Given the description of an element on the screen output the (x, y) to click on. 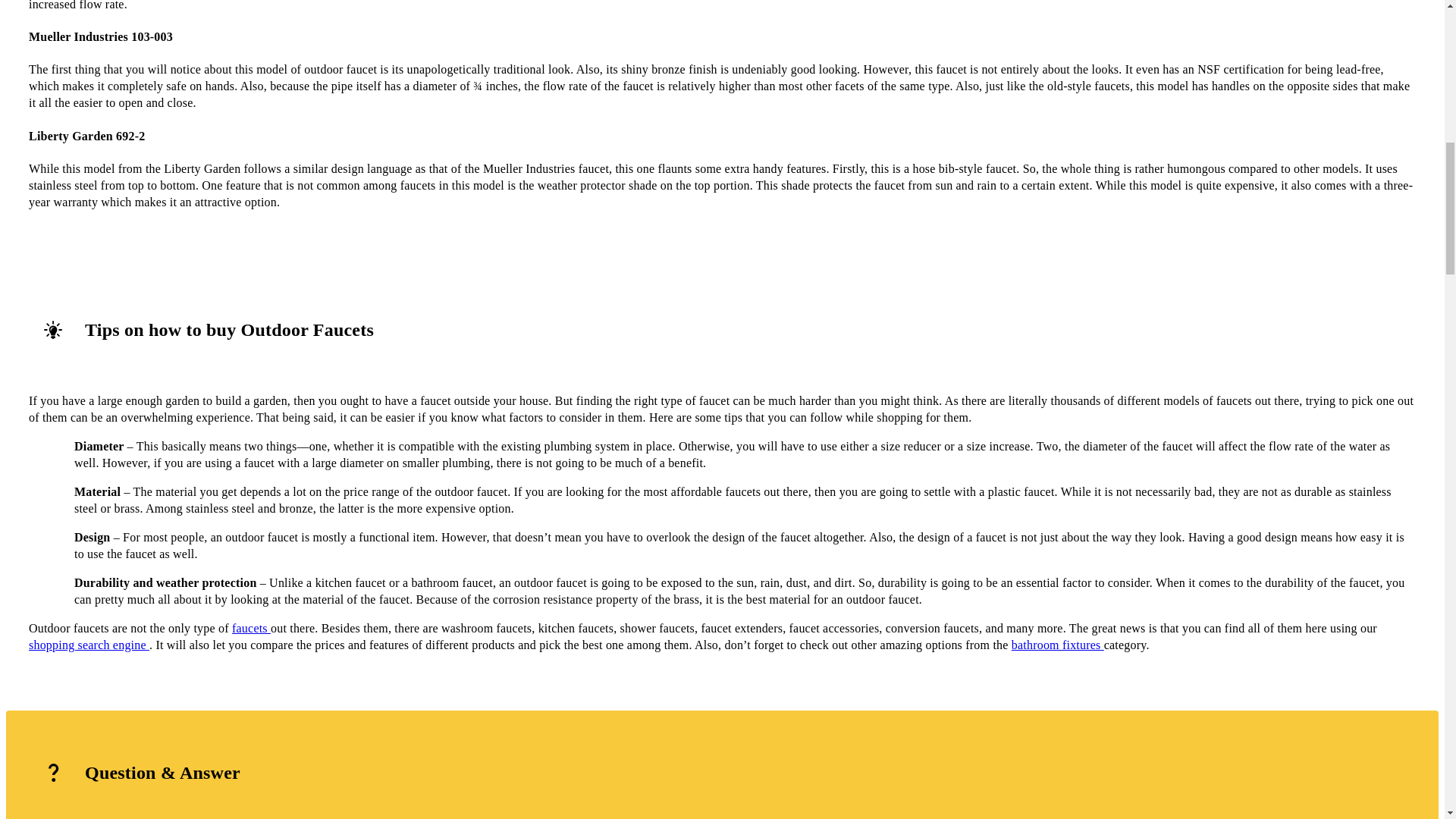
bathroom fixtures (1057, 644)
faucets (250, 627)
shopping search engine (89, 644)
